Given the description of an element on the screen output the (x, y) to click on. 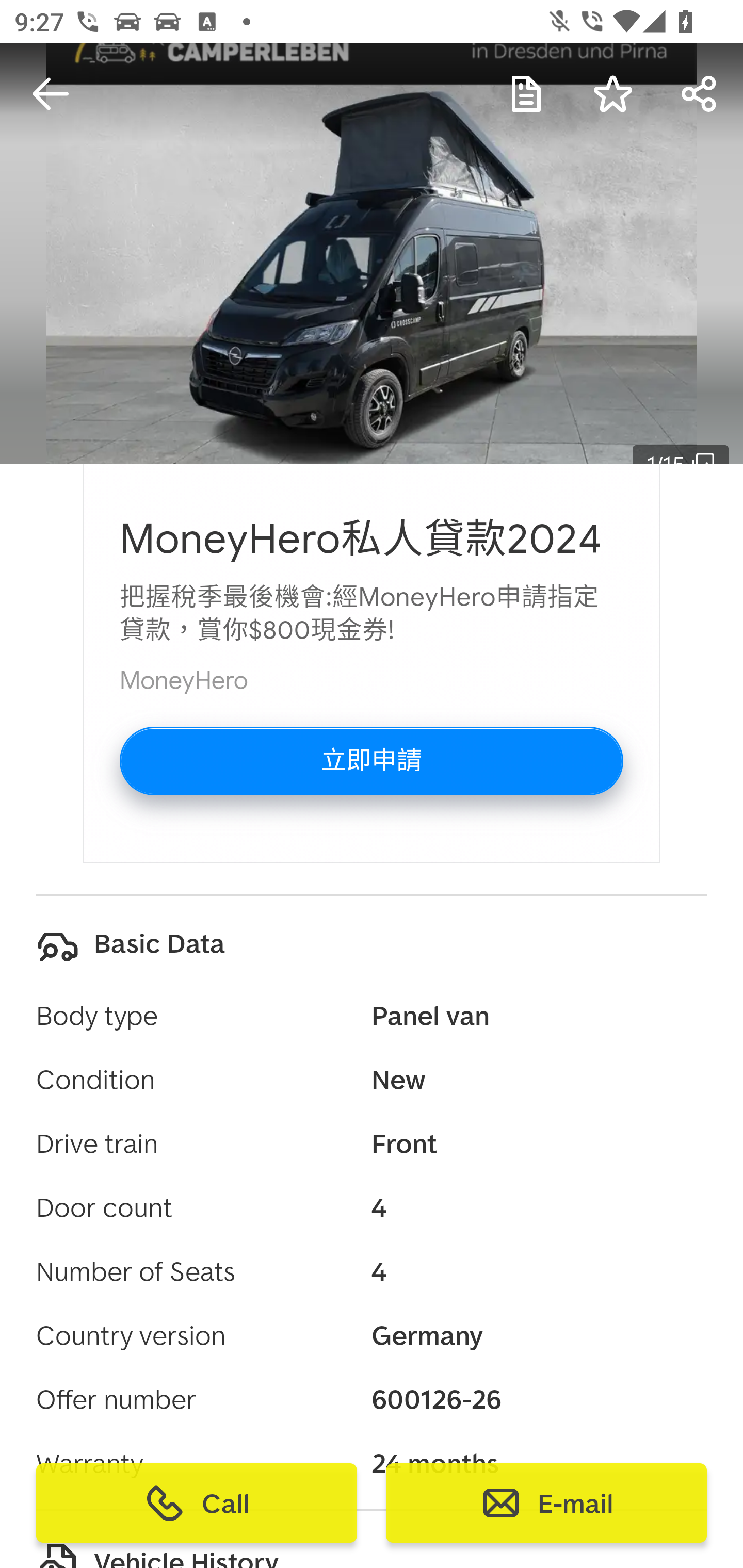
Navigate up (50, 93)
My Notes (525, 93)
Save (612, 93)
Forward (699, 93)
MoneyHero私人貸款2024 (361, 539)
MoneyHero (183, 680)
立即申請 (371, 760)
Call (196, 1502)
E-mail (545, 1502)
